Given the description of an element on the screen output the (x, y) to click on. 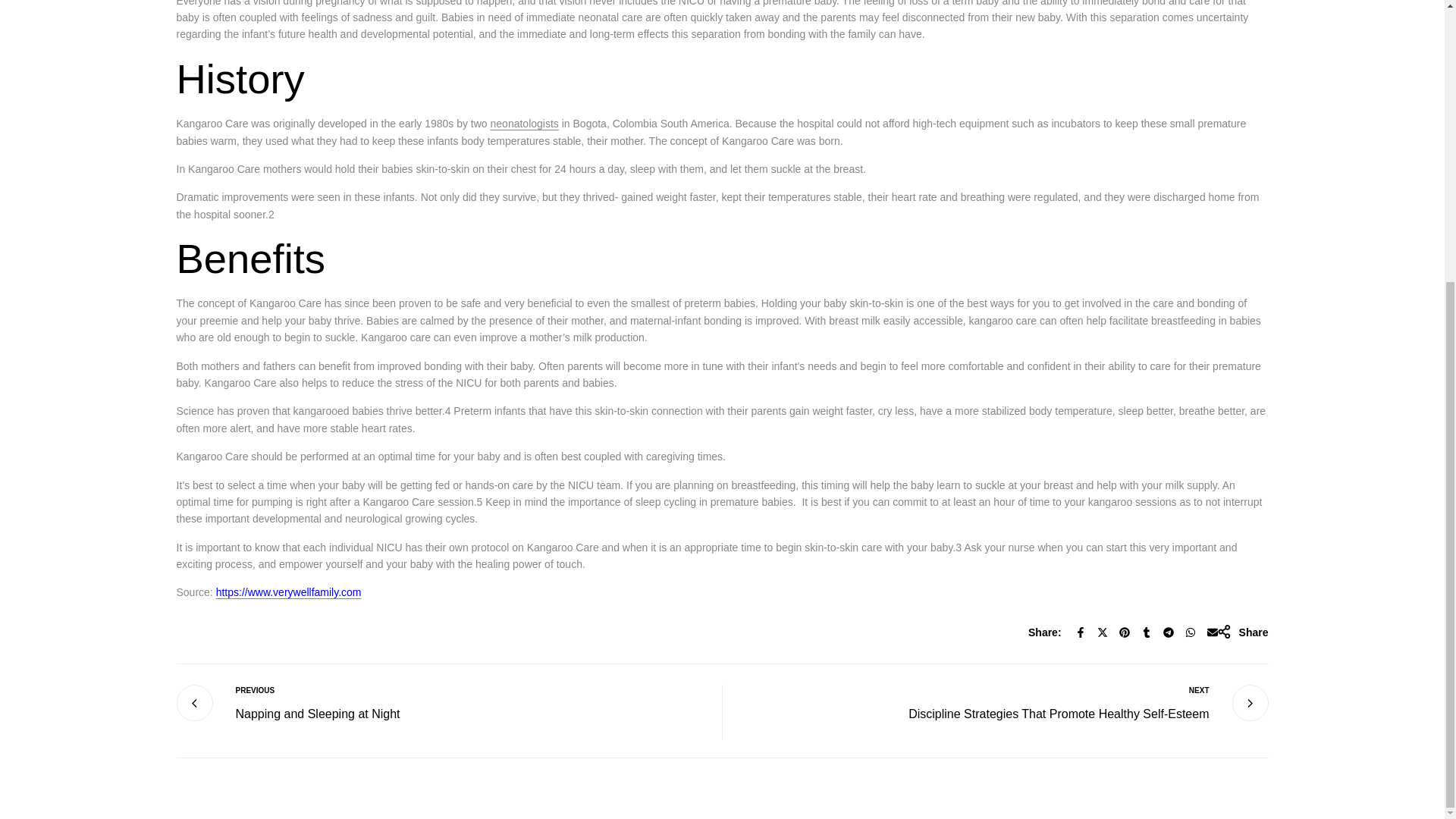
The Importance of Kangaroo Care in the NICU (524, 123)
Share (1242, 632)
Napping and Sleeping at Night (316, 713)
PREVIOUS (316, 690)
The Importance of Kangaroo Care in the NICU (288, 592)
neonatologists (524, 123)
